Given the description of an element on the screen output the (x, y) to click on. 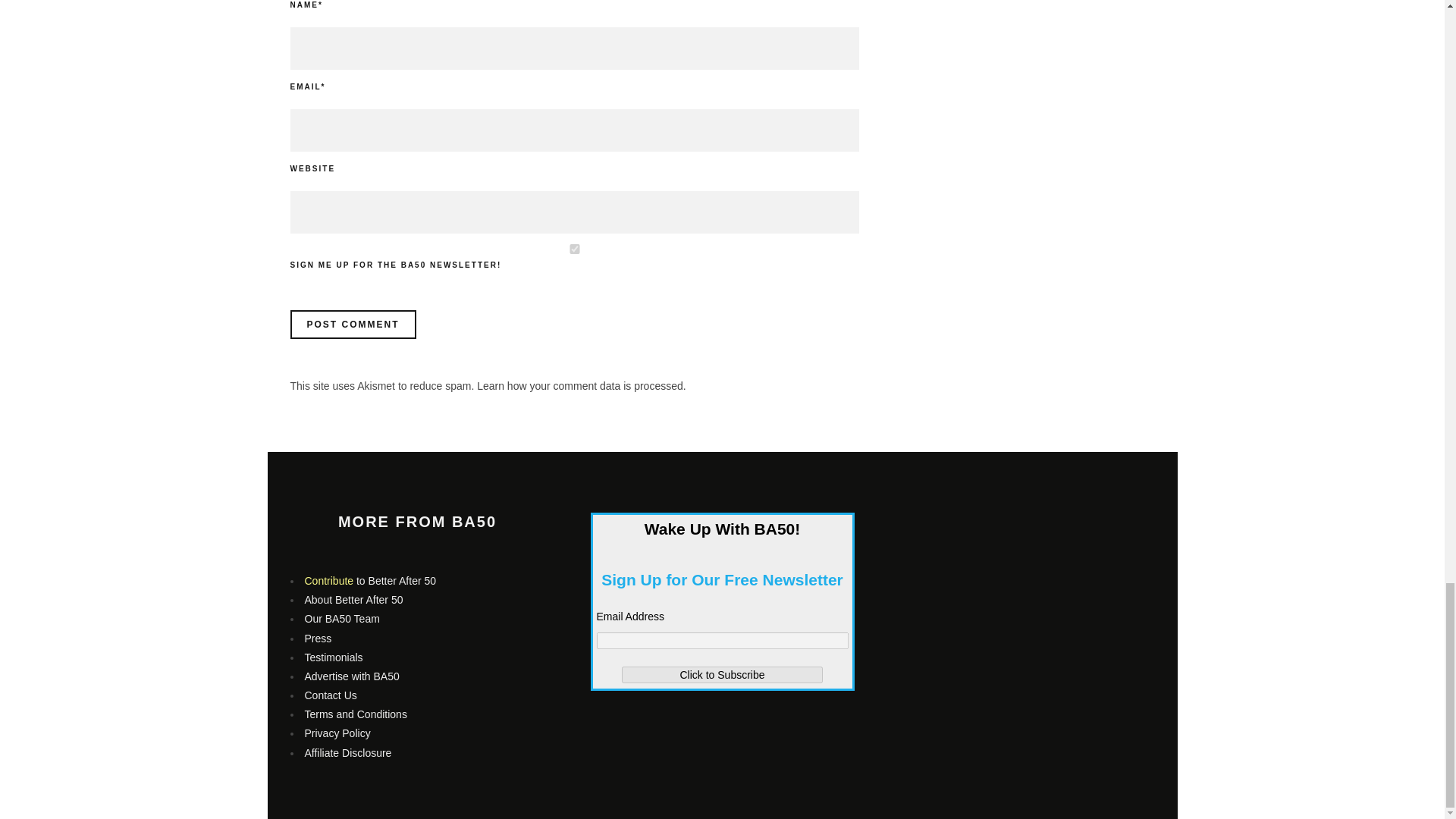
Click to Subscribe (722, 674)
1 (574, 248)
Post Comment (351, 324)
